Given the description of an element on the screen output the (x, y) to click on. 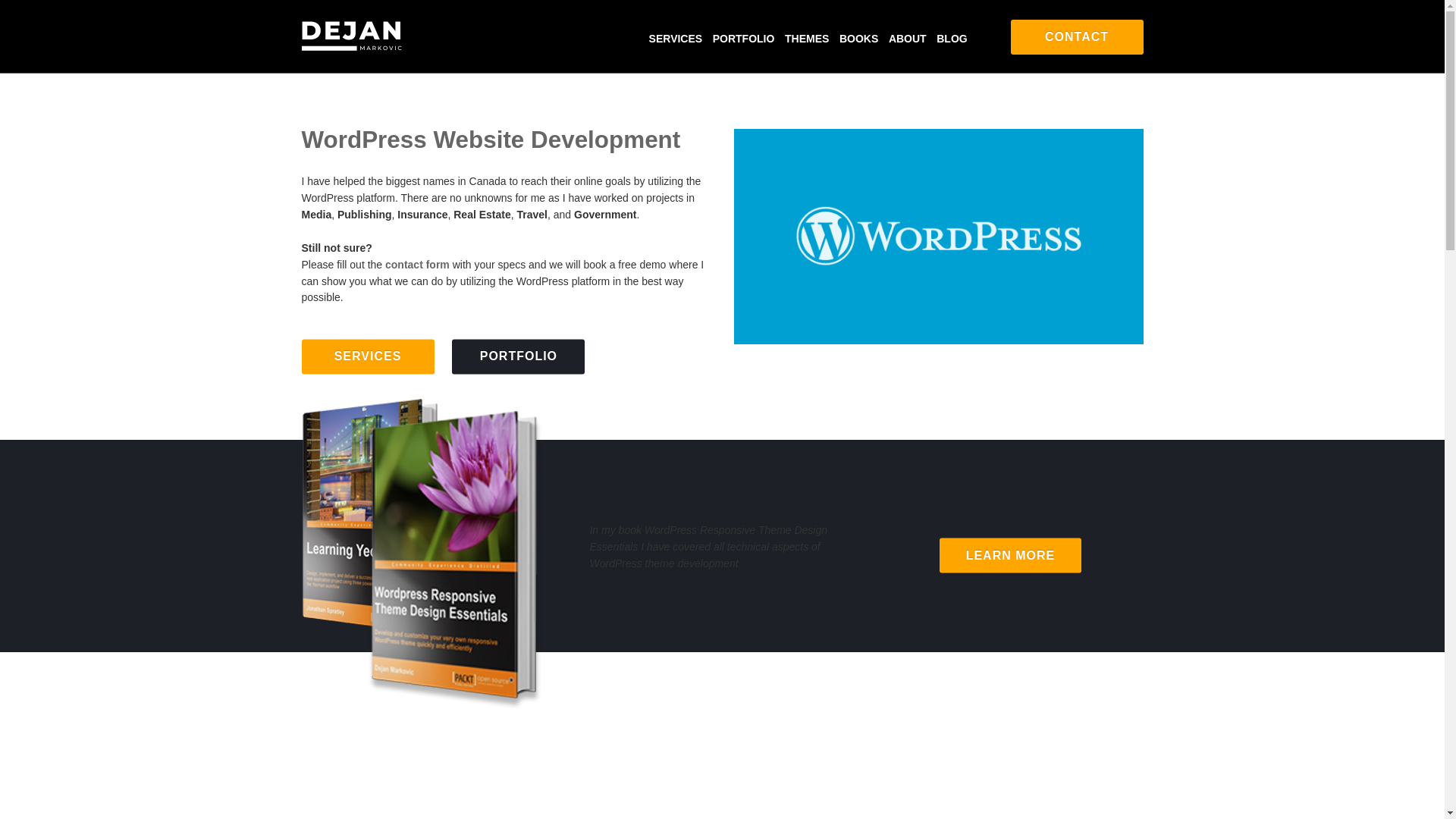
contact form (417, 264)
LEARN MORE (1010, 555)
SERVICES (367, 356)
Services (676, 38)
SERVICES (676, 38)
PORTFOLIO (743, 38)
About (907, 38)
Portfolio (743, 38)
THEMES (806, 38)
Themes (806, 38)
BLOG (951, 38)
Blog (951, 38)
PORTFOLIO (518, 356)
Contact (1076, 36)
Books (858, 38)
